Given the description of an element on the screen output the (x, y) to click on. 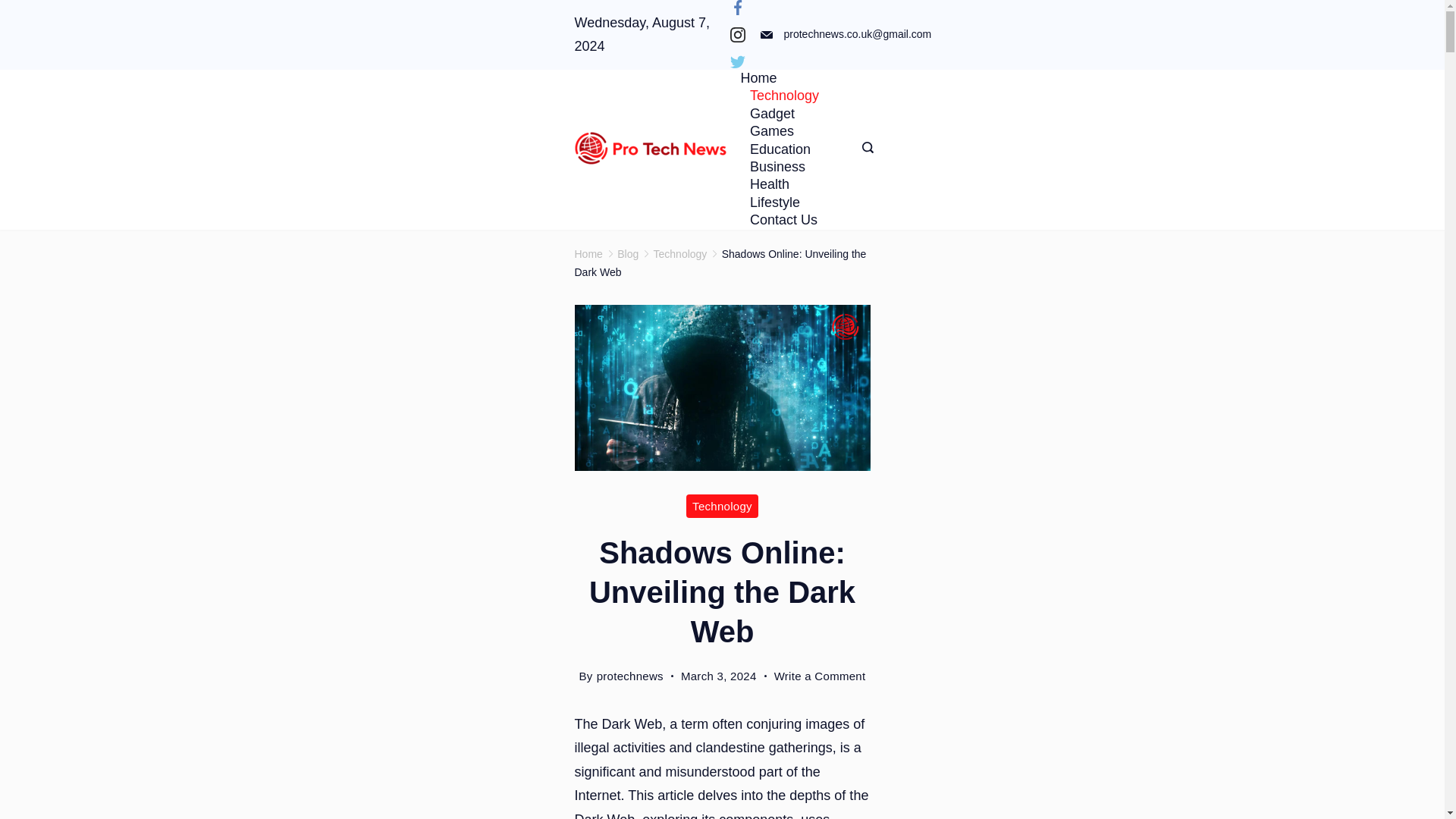
Contact Us (777, 220)
protechnews (629, 675)
Technology (721, 505)
Technology (783, 95)
Health (768, 184)
Shadows Online: Unveiling the Dark Web (720, 263)
Technology (680, 254)
Education (779, 149)
Home (588, 254)
Games (771, 131)
Lifestyle (774, 202)
Business (776, 167)
Gadget (771, 113)
Home (762, 77)
Blog (628, 254)
